Given the description of an element on the screen output the (x, y) to click on. 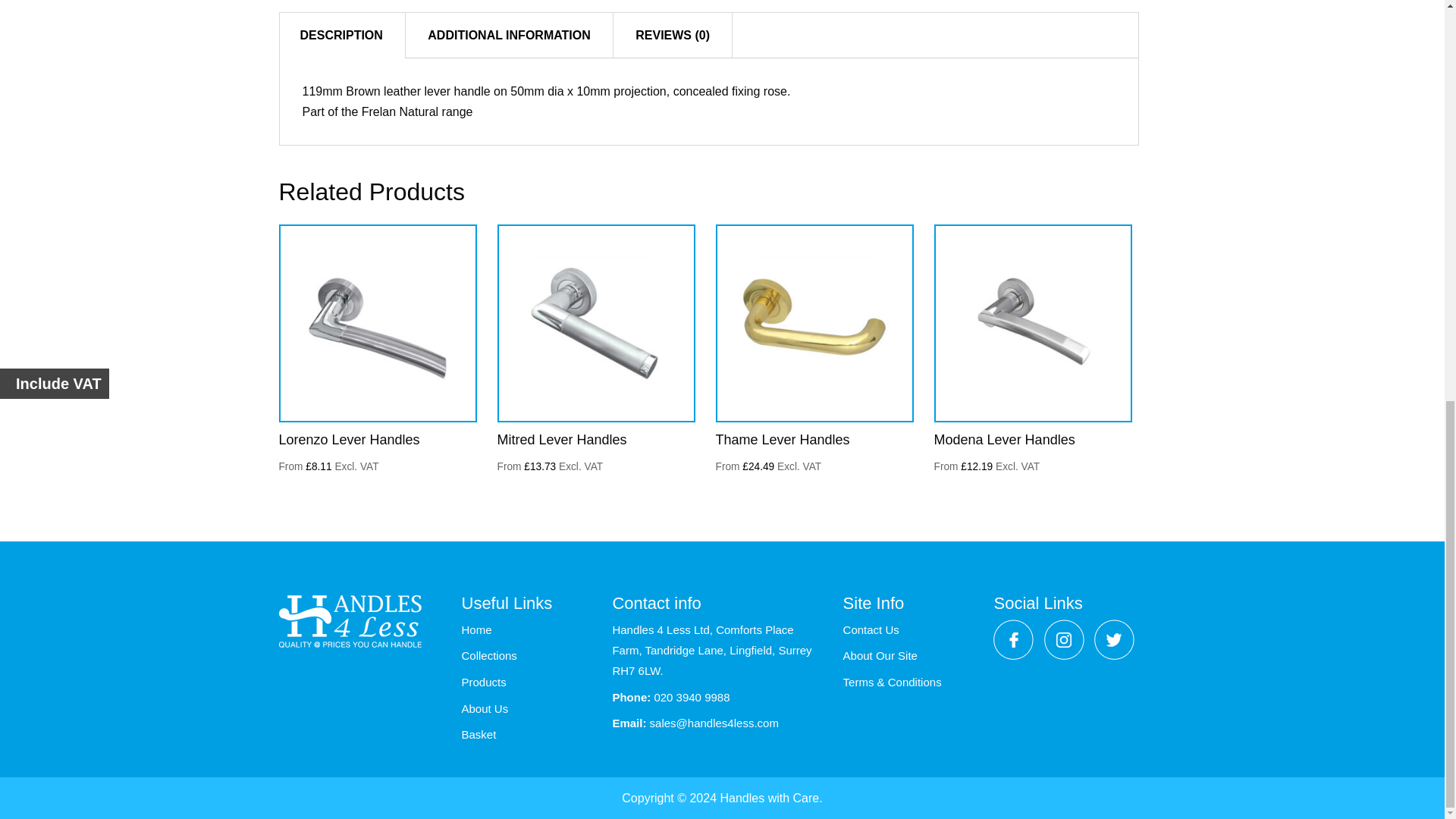
With VAT removed (769, 466)
DESCRIPTION (340, 35)
With VAT removed (328, 466)
ADDITIONAL INFORMATION (508, 35)
With VAT removed (550, 466)
